Given the description of an element on the screen output the (x, y) to click on. 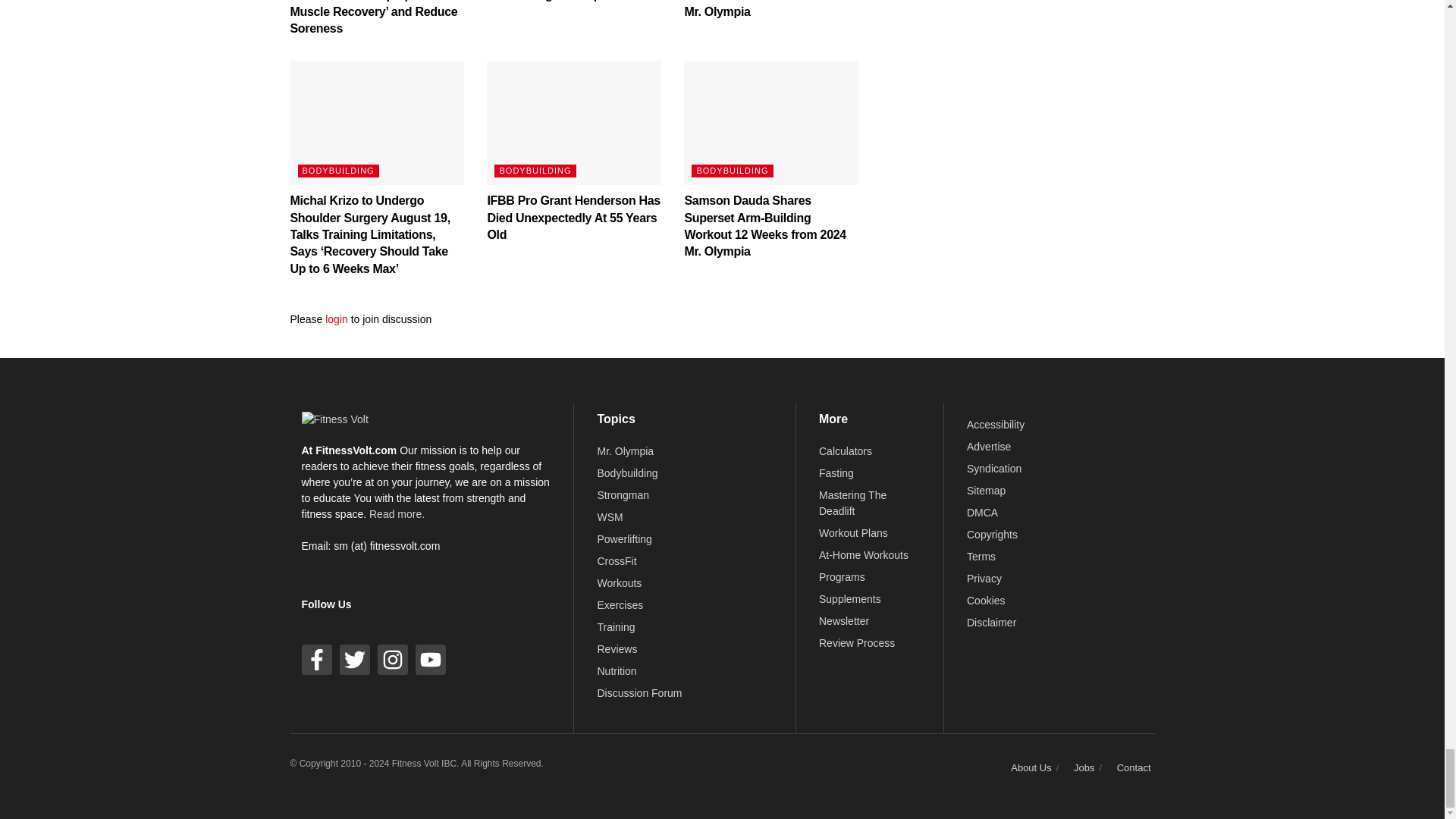
2019 Mr. Olympia News (624, 451)
Read more about Fitness Volt (397, 513)
Accessibility Conformance Status (995, 424)
